Given the description of an element on the screen output the (x, y) to click on. 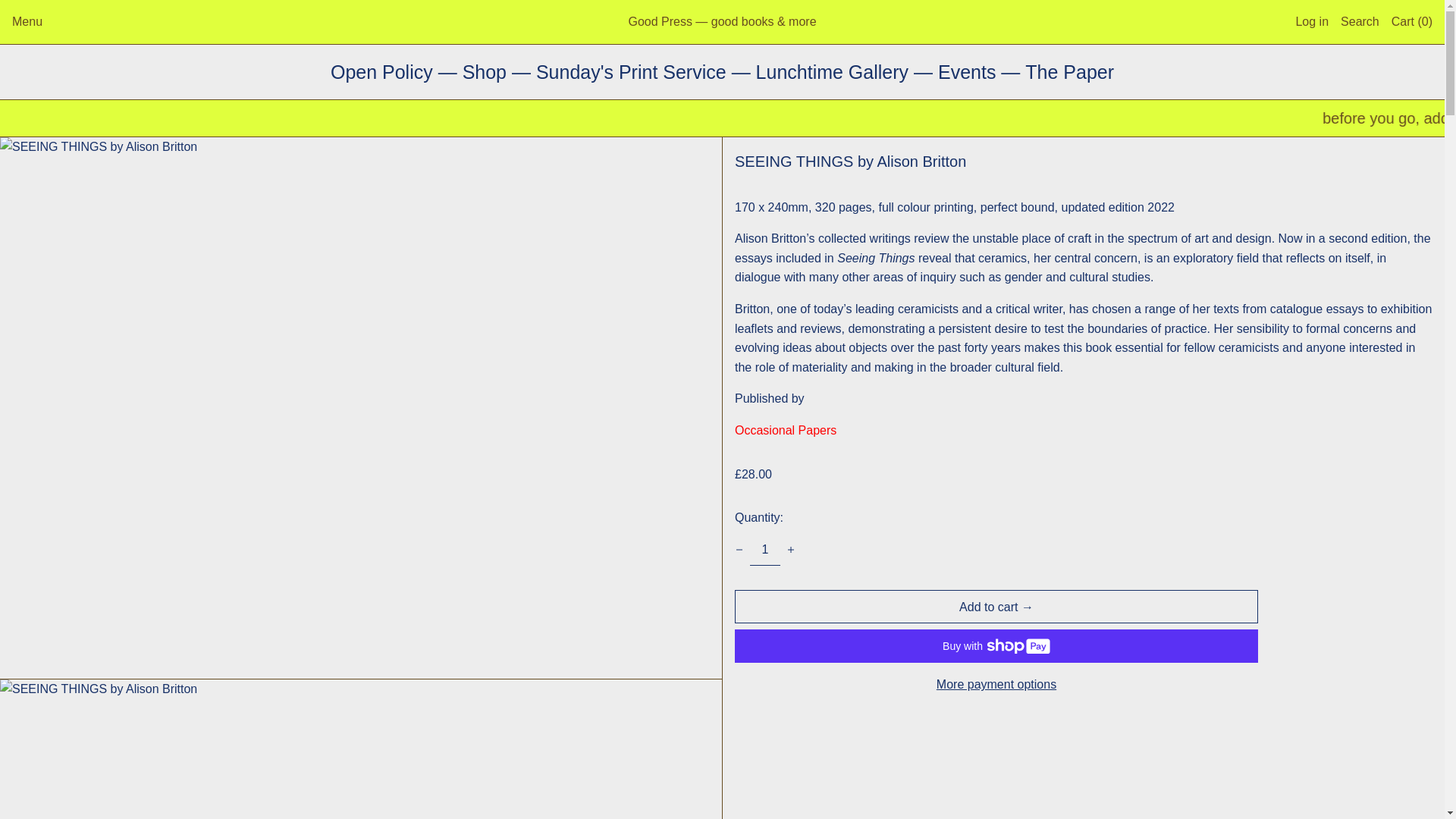
Occasional Papers (785, 430)
Sunday's Print Service (633, 71)
Shop (487, 71)
Search (1359, 21)
1 (764, 549)
Events (969, 71)
Open Policy (384, 71)
Lunchtime Gallery (834, 71)
Menu (26, 21)
The Paper (1069, 71)
Log in (1311, 21)
